Given the description of an element on the screen output the (x, y) to click on. 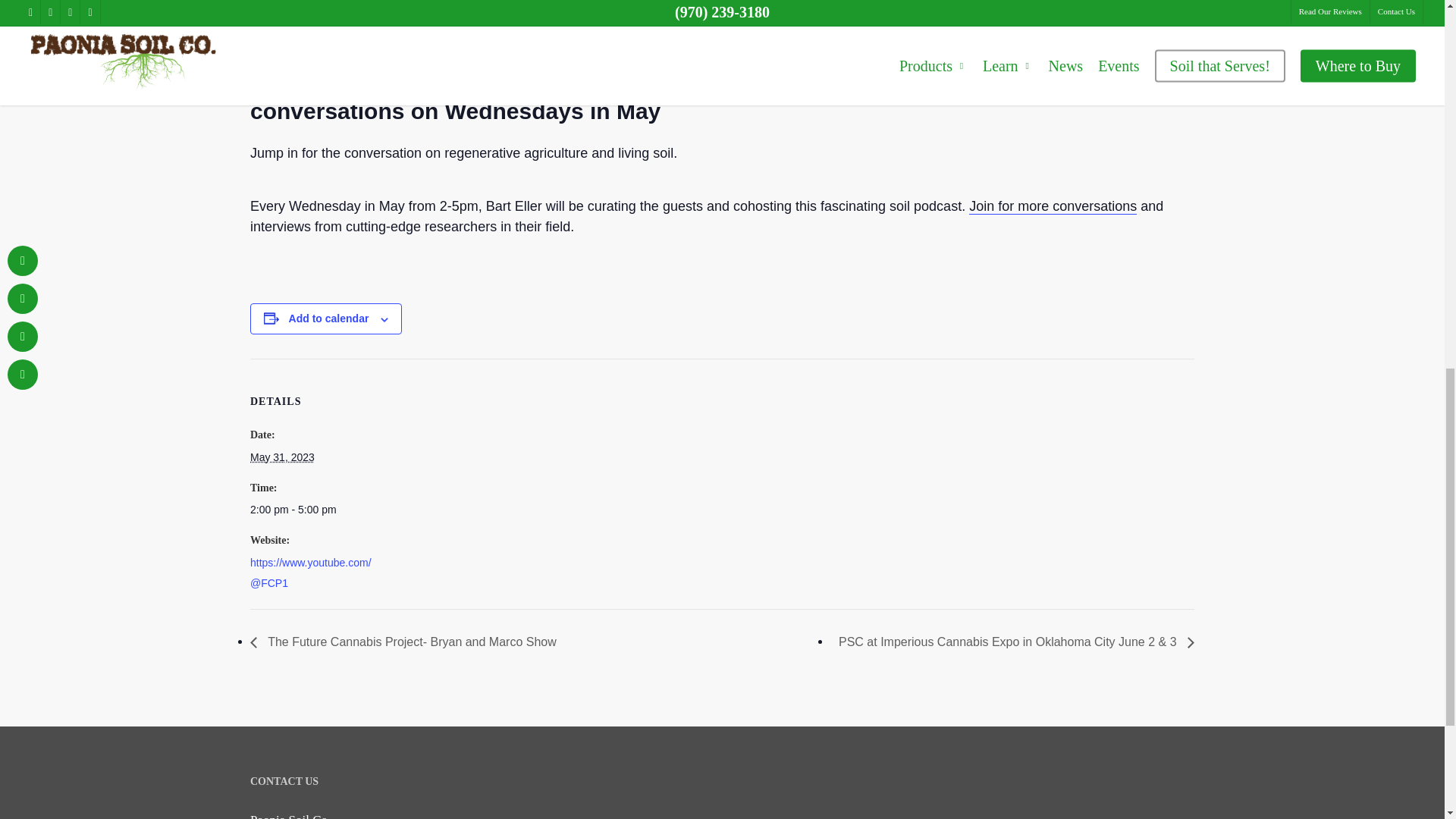
2023-05-31 (282, 457)
2023-05-31 (313, 509)
